Given the description of an element on the screen output the (x, y) to click on. 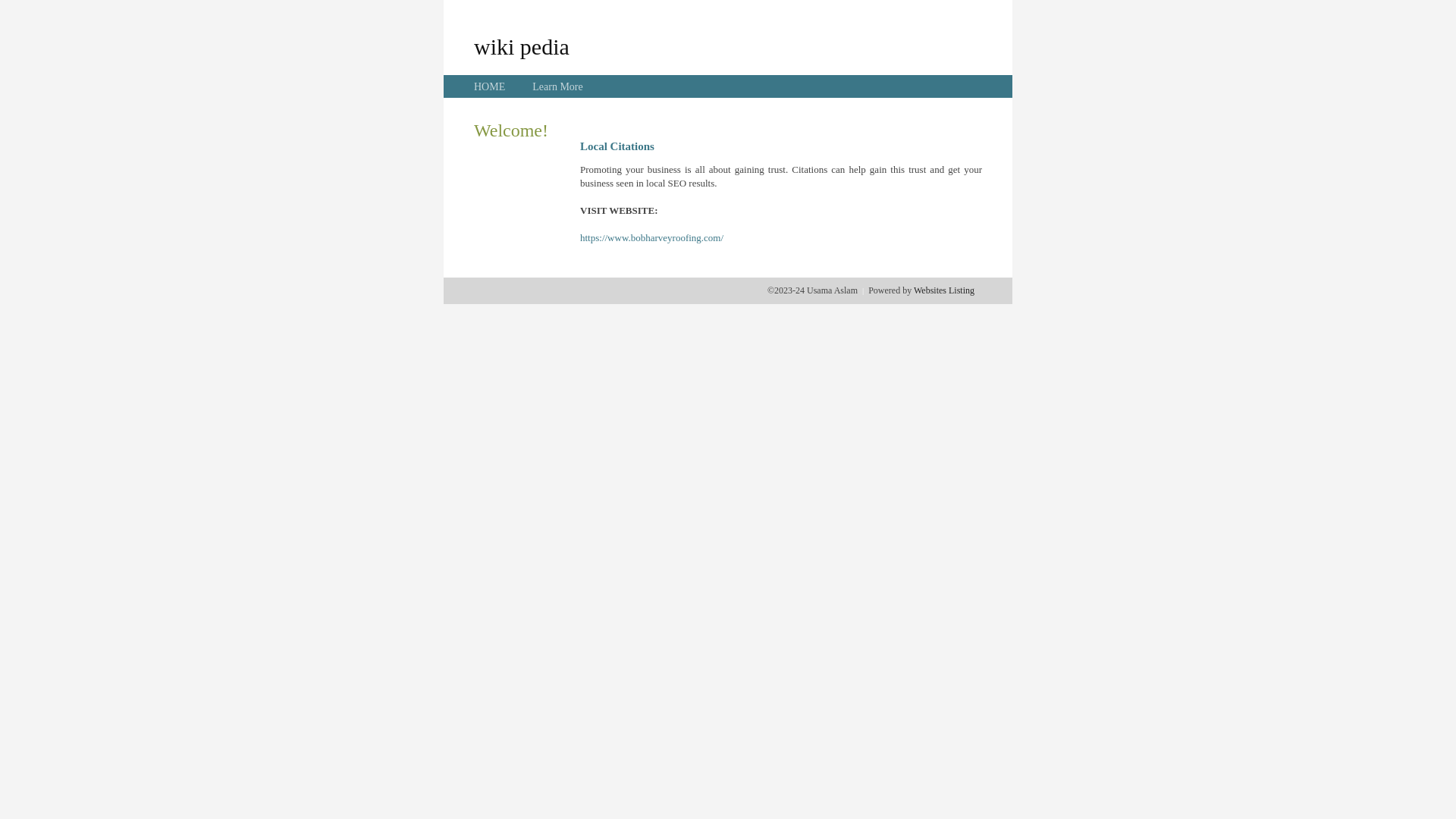
https://www.bobharveyroofing.com/ Element type: text (651, 237)
Learn More Element type: text (557, 86)
wiki pedia Element type: text (521, 46)
Websites Listing Element type: text (943, 290)
HOME Element type: text (489, 86)
